Given the description of an element on the screen output the (x, y) to click on. 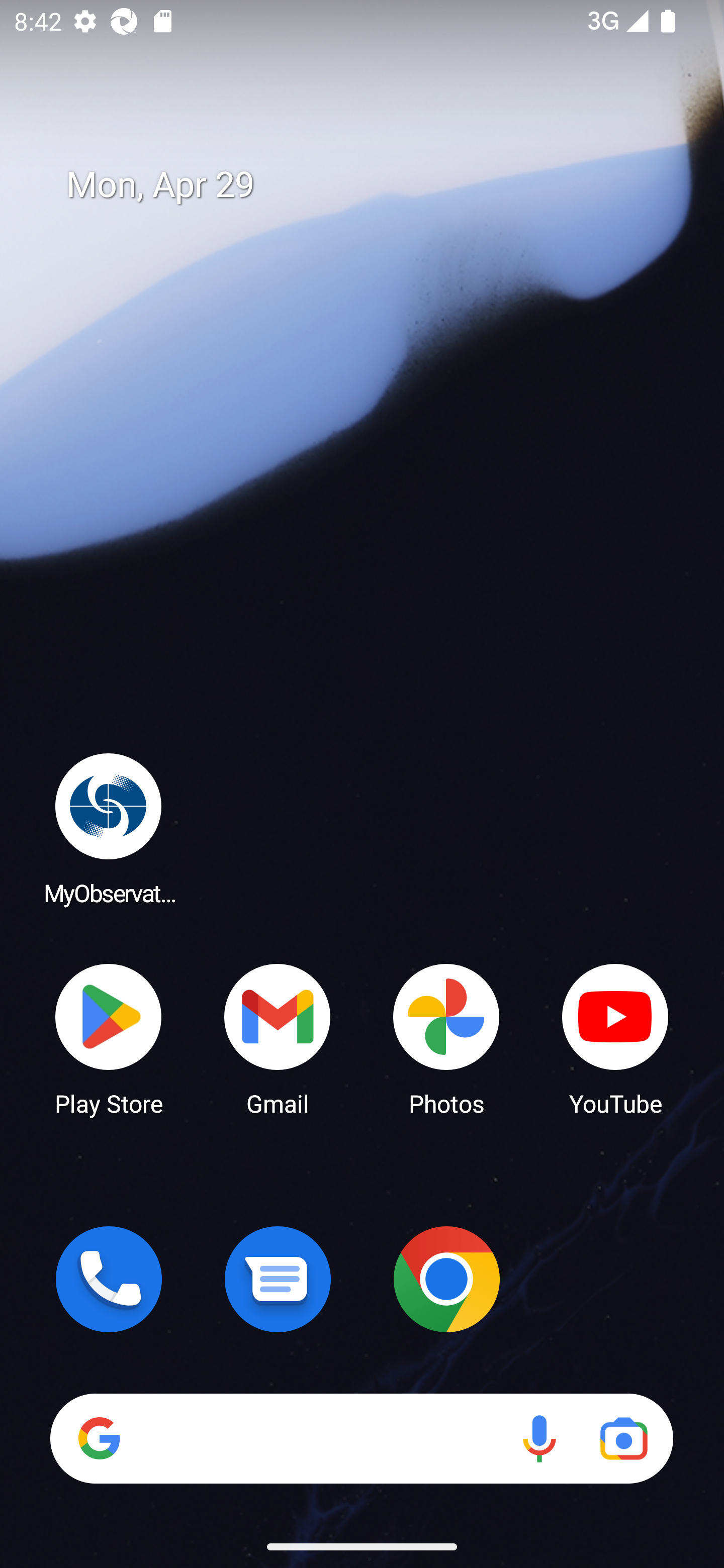
Mon, Apr 29 (375, 184)
MyObservatory (108, 828)
Play Store (108, 1038)
Gmail (277, 1038)
Photos (445, 1038)
YouTube (615, 1038)
Phone (108, 1279)
Messages (277, 1279)
Chrome (446, 1279)
Voice search (539, 1438)
Google Lens (623, 1438)
